Given the description of an element on the screen output the (x, y) to click on. 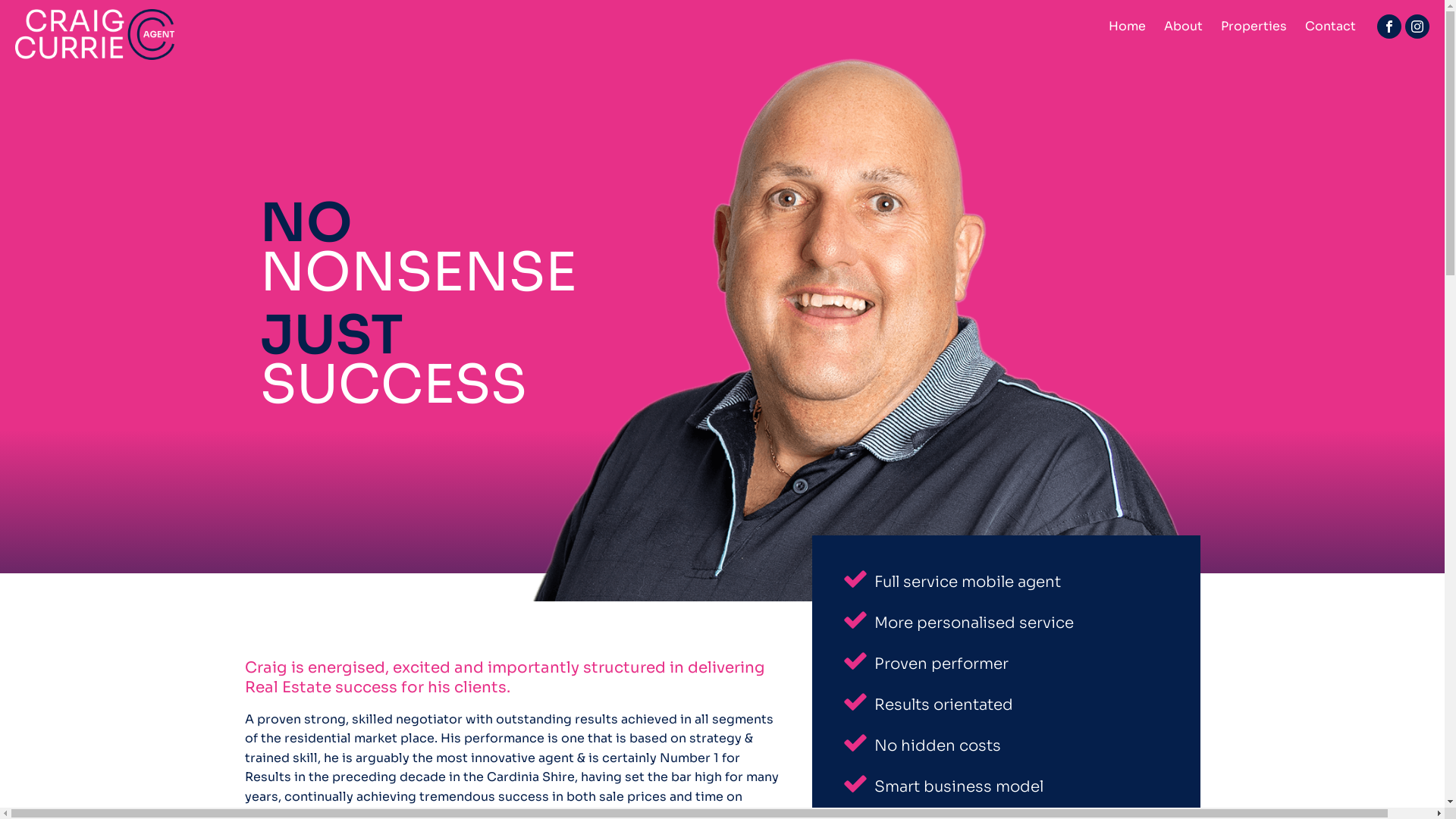
Properties Element type: text (1253, 26)
About Element type: text (1182, 26)
Home Element type: text (1126, 26)
Contact Element type: text (1330, 26)
